Given the description of an element on the screen output the (x, y) to click on. 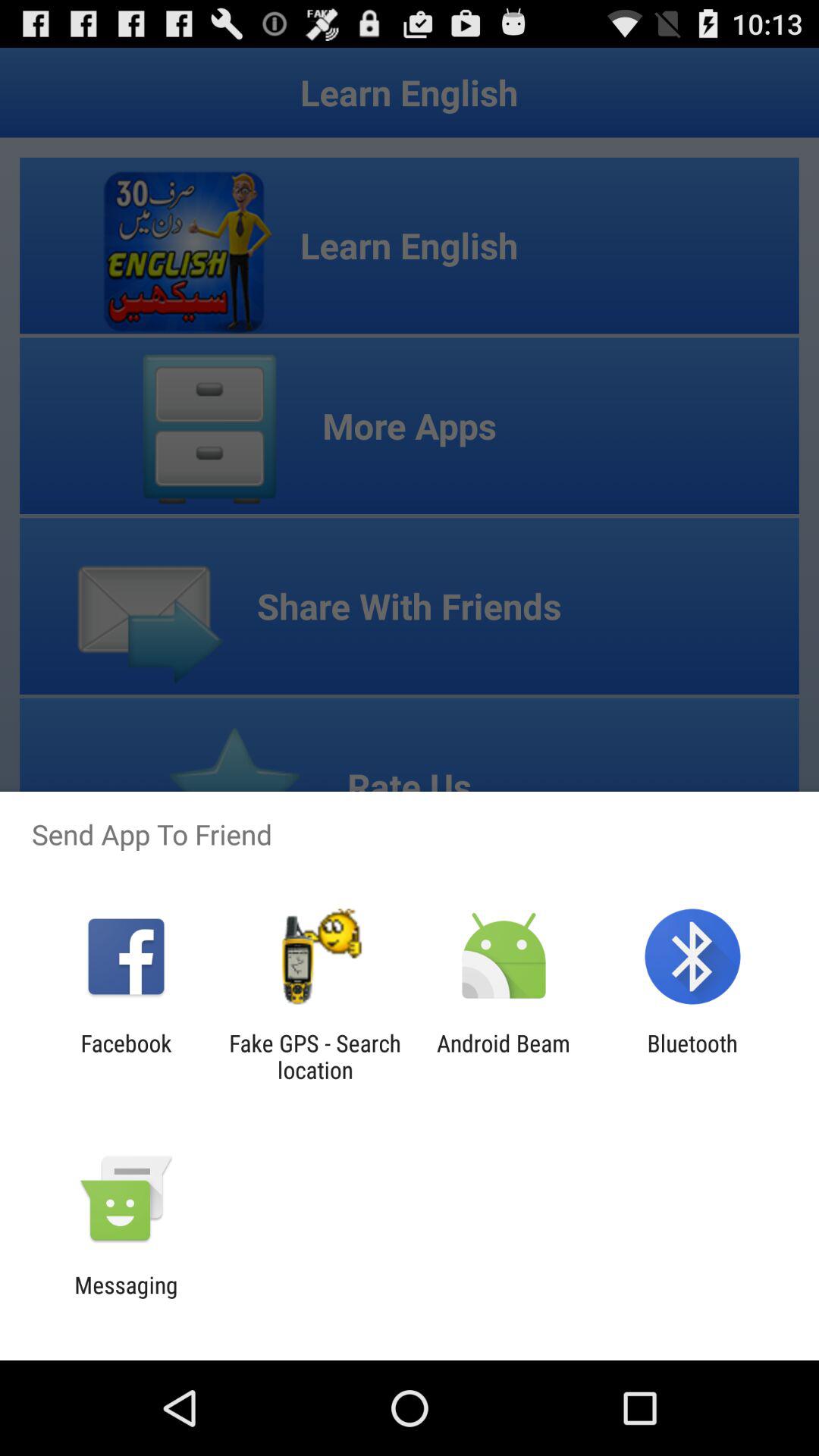
tap item to the right of the android beam app (692, 1056)
